Given the description of an element on the screen output the (x, y) to click on. 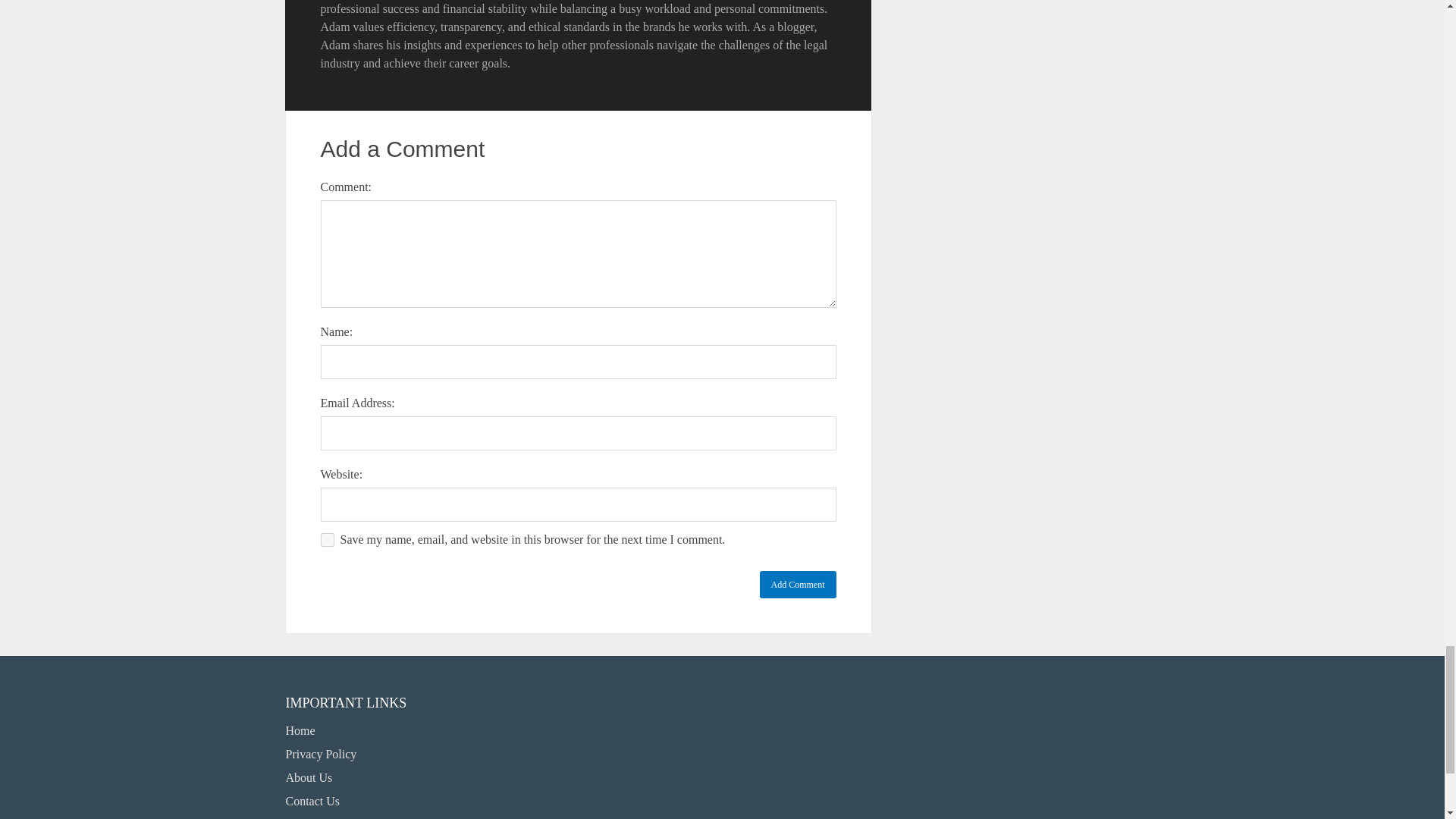
yes (326, 540)
Add Comment (797, 584)
